Given the description of an element on the screen output the (x, y) to click on. 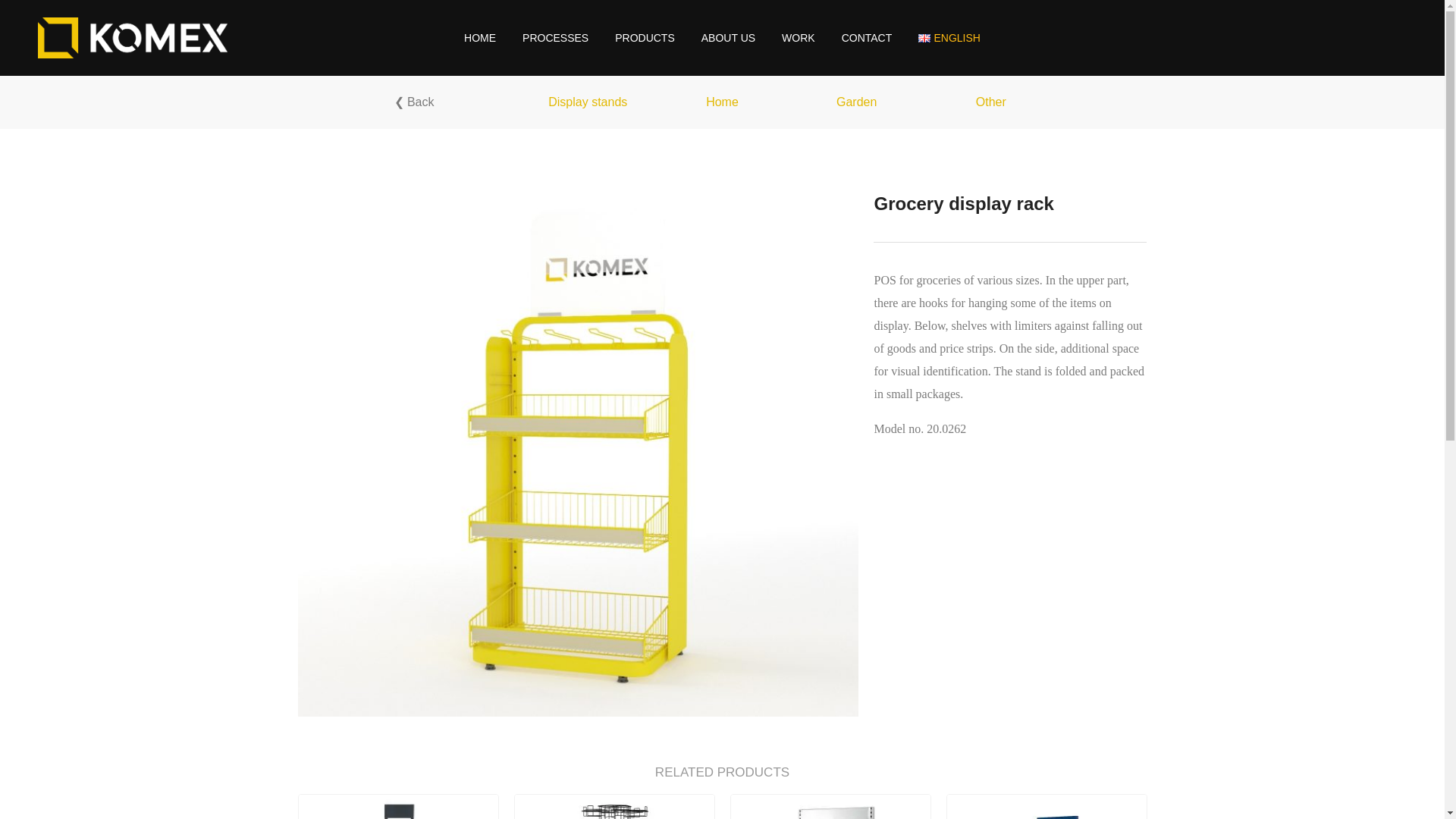
Other (990, 101)
HOME (480, 37)
WORK (798, 37)
ABOUT US (728, 37)
Garden (855, 101)
PRODUCTS (644, 37)
CONTACT (866, 37)
ENGLISH (949, 37)
Display stands (587, 101)
Home (722, 101)
